Given the description of an element on the screen output the (x, y) to click on. 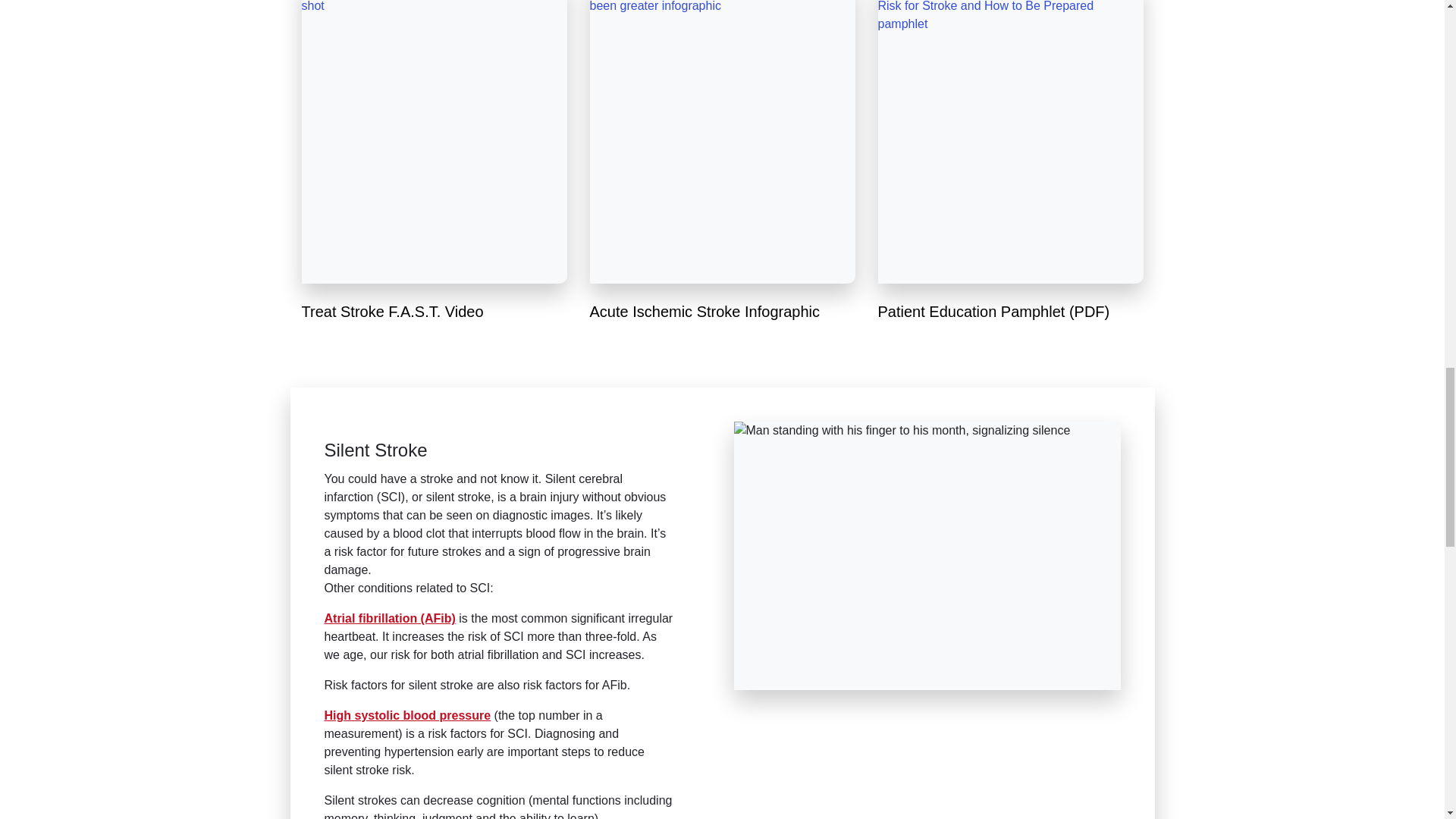
High systolic blood pressure (408, 715)
Treat Stroke F.A.S.T. cropped video screen shot (434, 142)
